Given the description of an element on the screen output the (x, y) to click on. 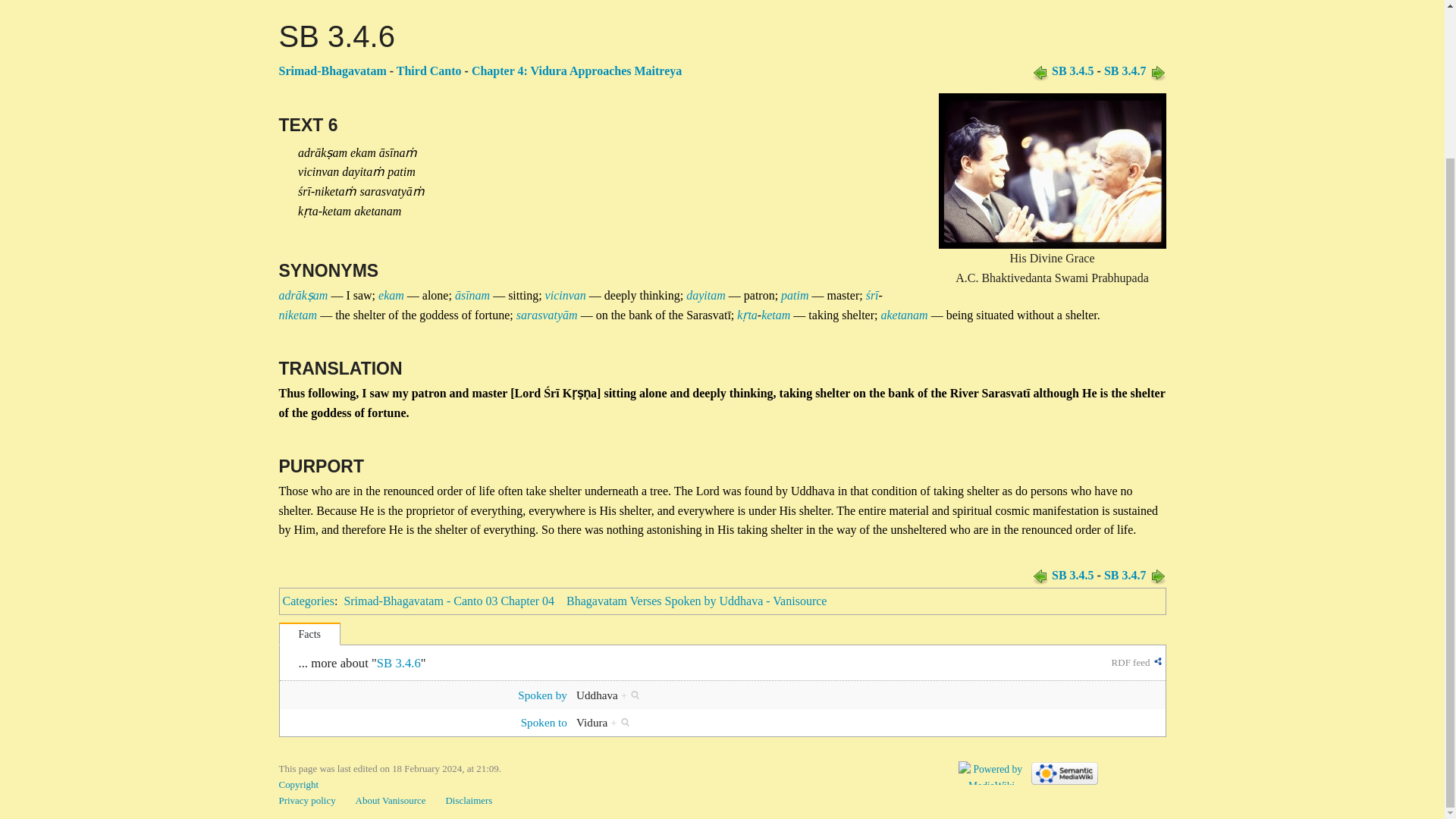
SB 3.4.7 (1125, 574)
SB 3.4.7 (1125, 70)
SB 3.4.5 (1072, 70)
SB 3 (428, 70)
SB 3.4.5 (1072, 574)
Srimad-Bhagavatam (333, 70)
SB 3.4.7 (1158, 574)
SB 3.4.5 (1040, 574)
SB 3.4: Vidura Approaches Maitreya (576, 70)
SB 3.4.7 (1158, 70)
SB 3.4.5 (1040, 70)
